Given the description of an element on the screen output the (x, y) to click on. 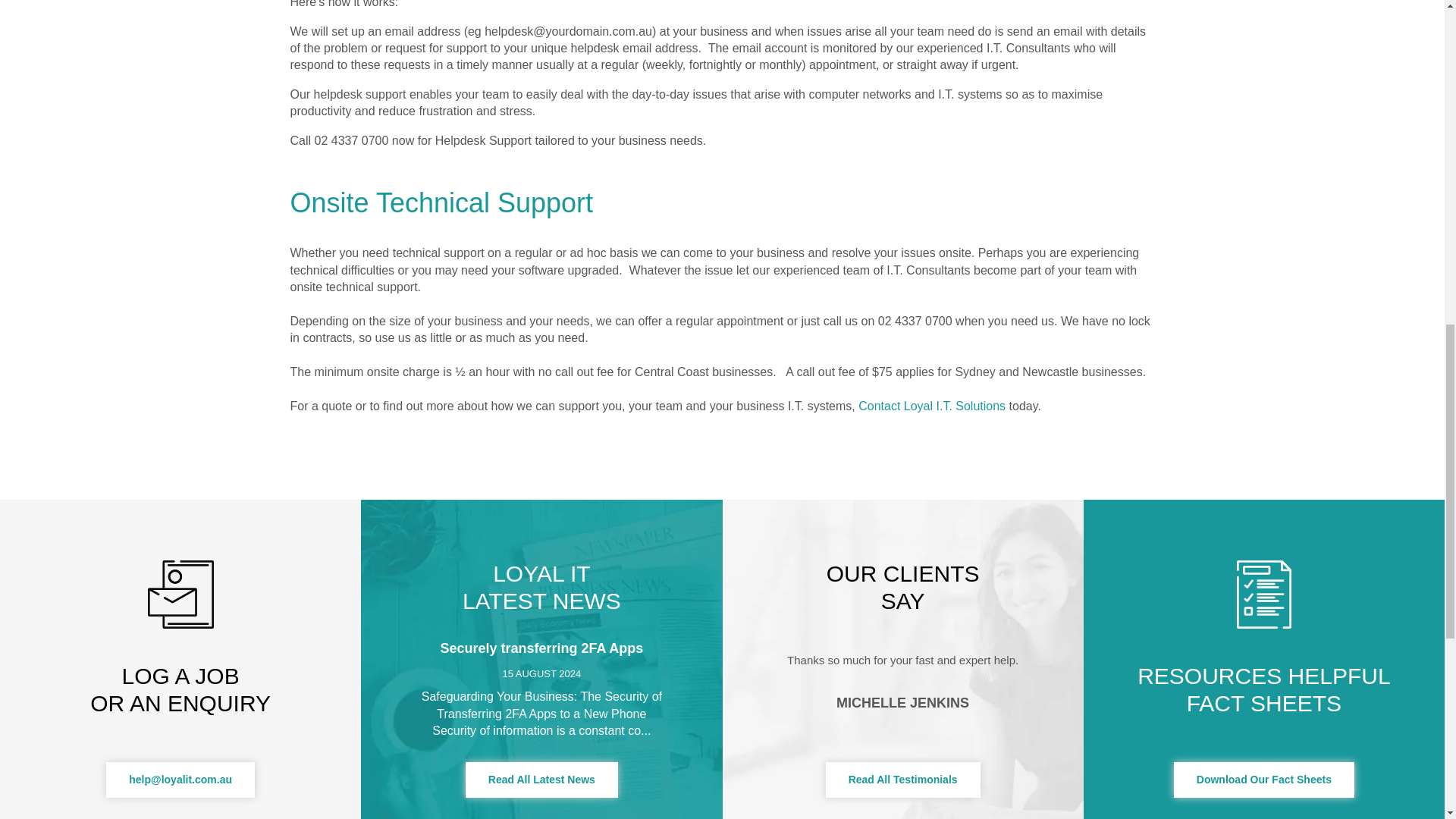
Contact Loyal I.T. Solutions (932, 405)
Read All Testimonials (902, 779)
Download Our Fact Sheets (1263, 779)
Securely transferring 2FA Apps (541, 648)
Download Our Fact Sheets (1263, 779)
Read All Testimonials (902, 779)
Read All Latest News (541, 779)
Read All Latest News (541, 779)
Securely transferring 2FA Apps (541, 648)
